Given the description of an element on the screen output the (x, y) to click on. 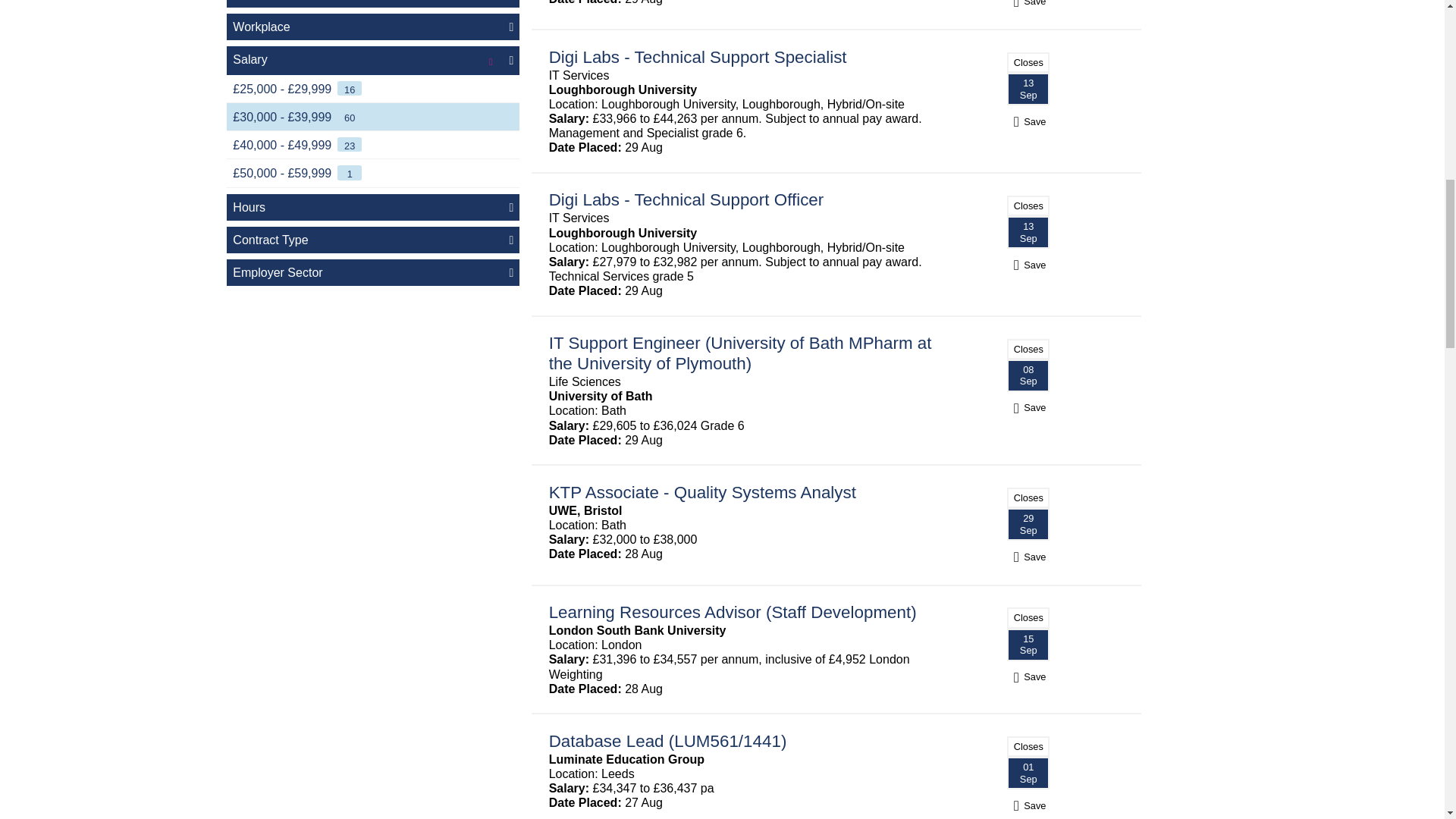
Save job (1027, 2)
Save job (1027, 407)
Save job (1027, 556)
Save job (1027, 121)
Save job (1027, 264)
Save job (1027, 676)
Save job (1027, 805)
